Given the description of an element on the screen output the (x, y) to click on. 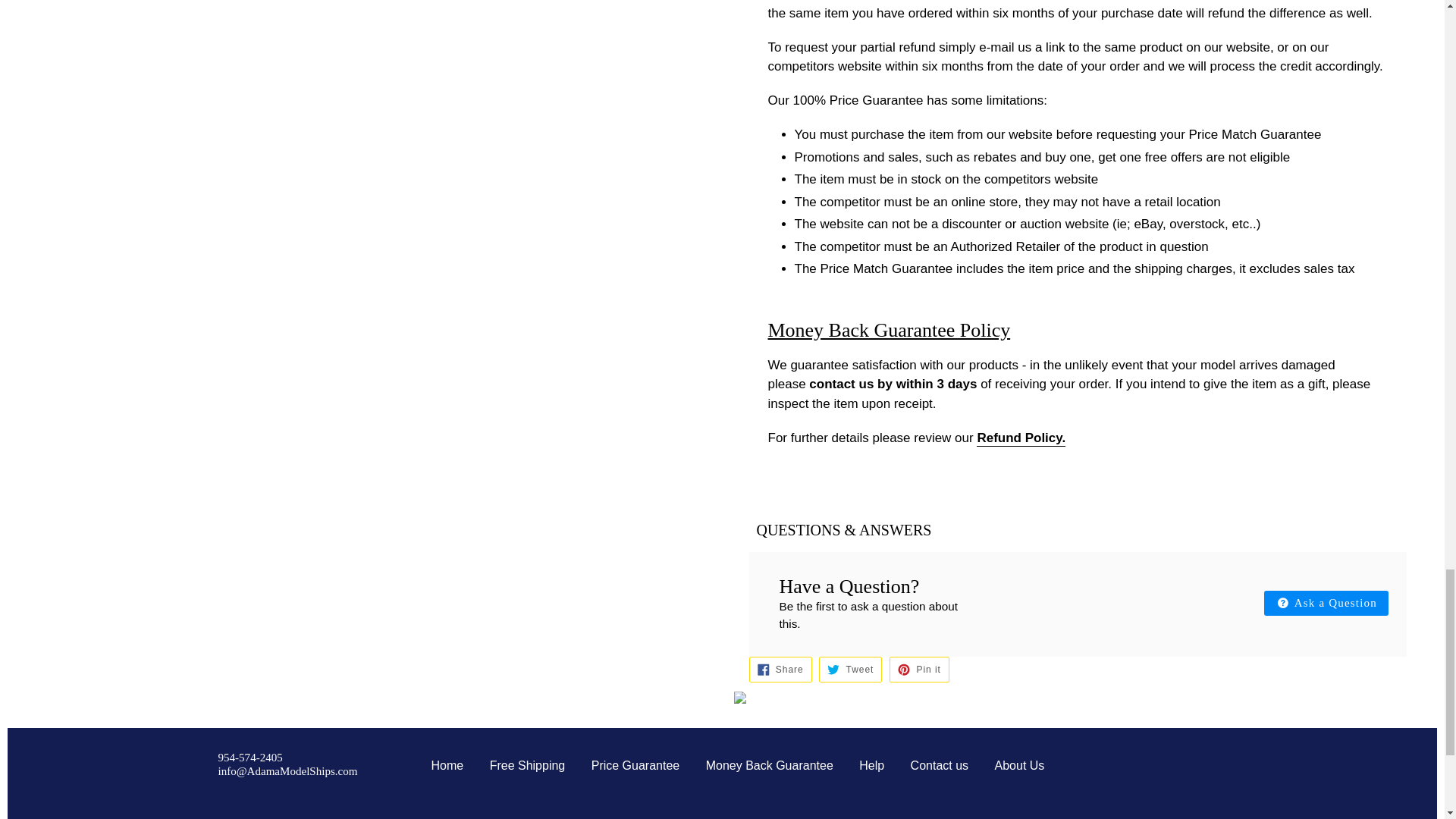
Tweet on Twitter (850, 669)
Share on Facebook (780, 669)
Pin on Pinterest (919, 669)
